Given the description of an element on the screen output the (x, y) to click on. 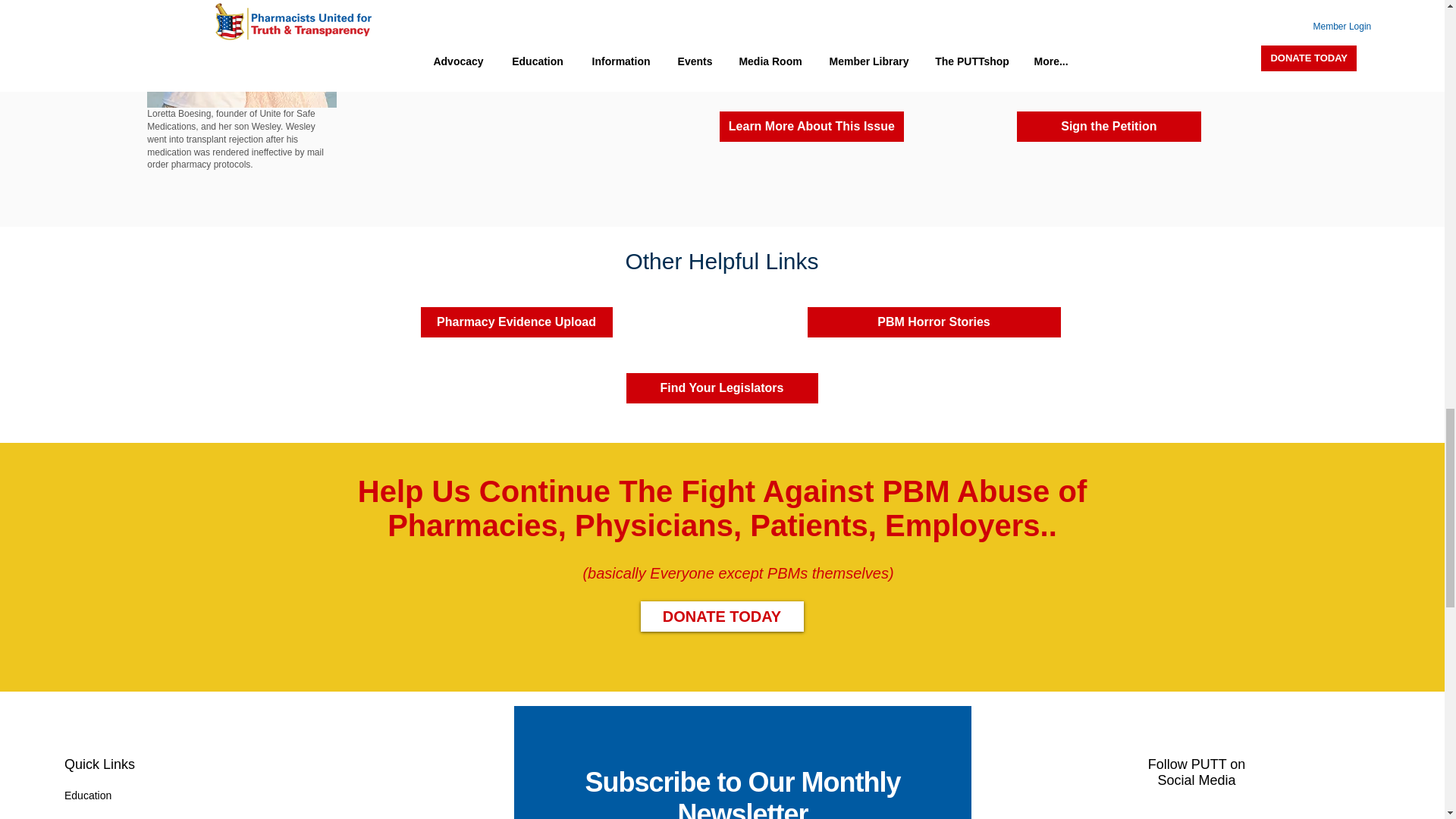
Learn More About This Issue (811, 126)
PBM Horror Stories (932, 322)
Education (88, 795)
Subscribe to our newsletter (742, 762)
Find Your Legislators (722, 388)
Sign the Petition (1108, 126)
Pharmacy Evidence Upload (515, 322)
Information (90, 818)
DONATE TODAY (721, 616)
study (892, 64)
